Given the description of an element on the screen output the (x, y) to click on. 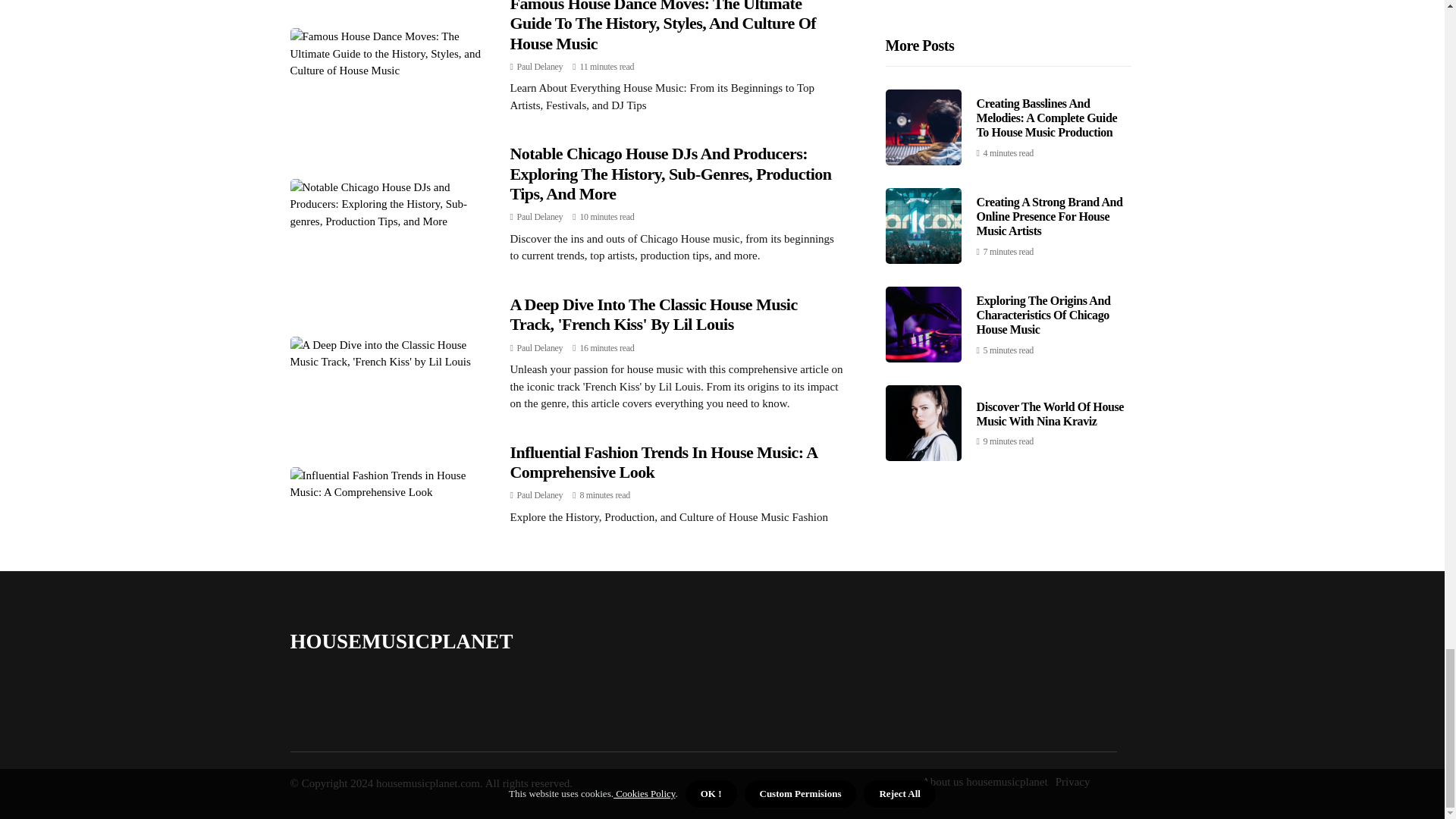
Posts by Paul Delaney (539, 216)
Posts by Paul Delaney (539, 66)
Posts by Paul Delaney (539, 494)
Posts by Paul Delaney (539, 347)
